Given the description of an element on the screen output the (x, y) to click on. 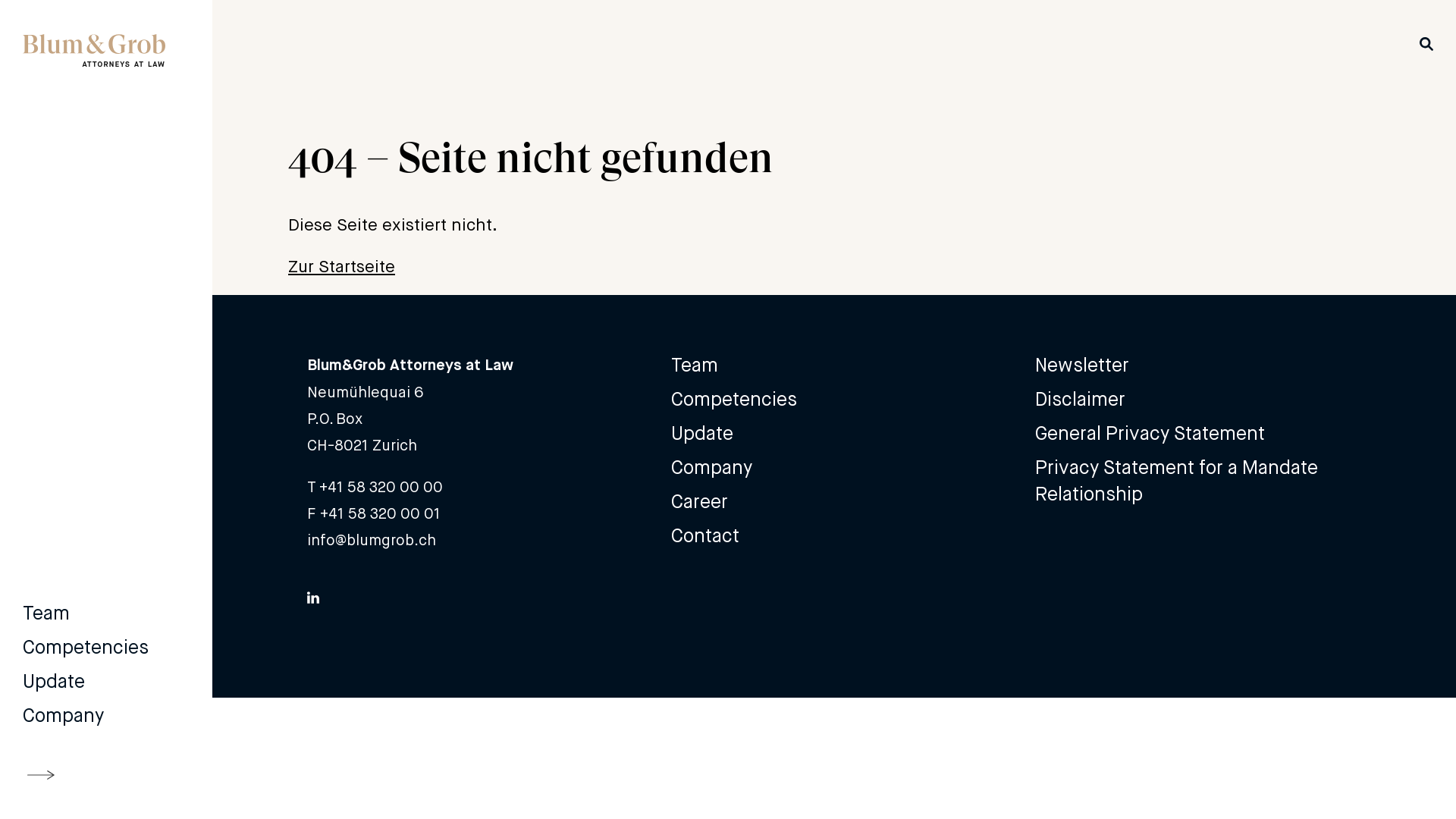
Newsletter Element type: text (1082, 366)
Contact Element type: text (705, 535)
Team Element type: text (694, 366)
info@blumgrob.ch Element type: text (371, 540)
Company Element type: text (62, 715)
Competencies Element type: text (734, 399)
+41 58 320 00 00 Element type: text (380, 486)
Team Element type: text (45, 613)
General Privacy Statement Element type: text (1149, 433)
Company Element type: text (711, 467)
Zur Startseite Element type: text (341, 266)
Update Element type: text (53, 681)
Privacy Statement for a Mandate Relationship Element type: text (1198, 480)
Competencies Element type: text (85, 647)
Disclaimer Element type: text (1080, 399)
Update Element type: text (702, 433)
Career Element type: text (699, 501)
